Given the description of an element on the screen output the (x, y) to click on. 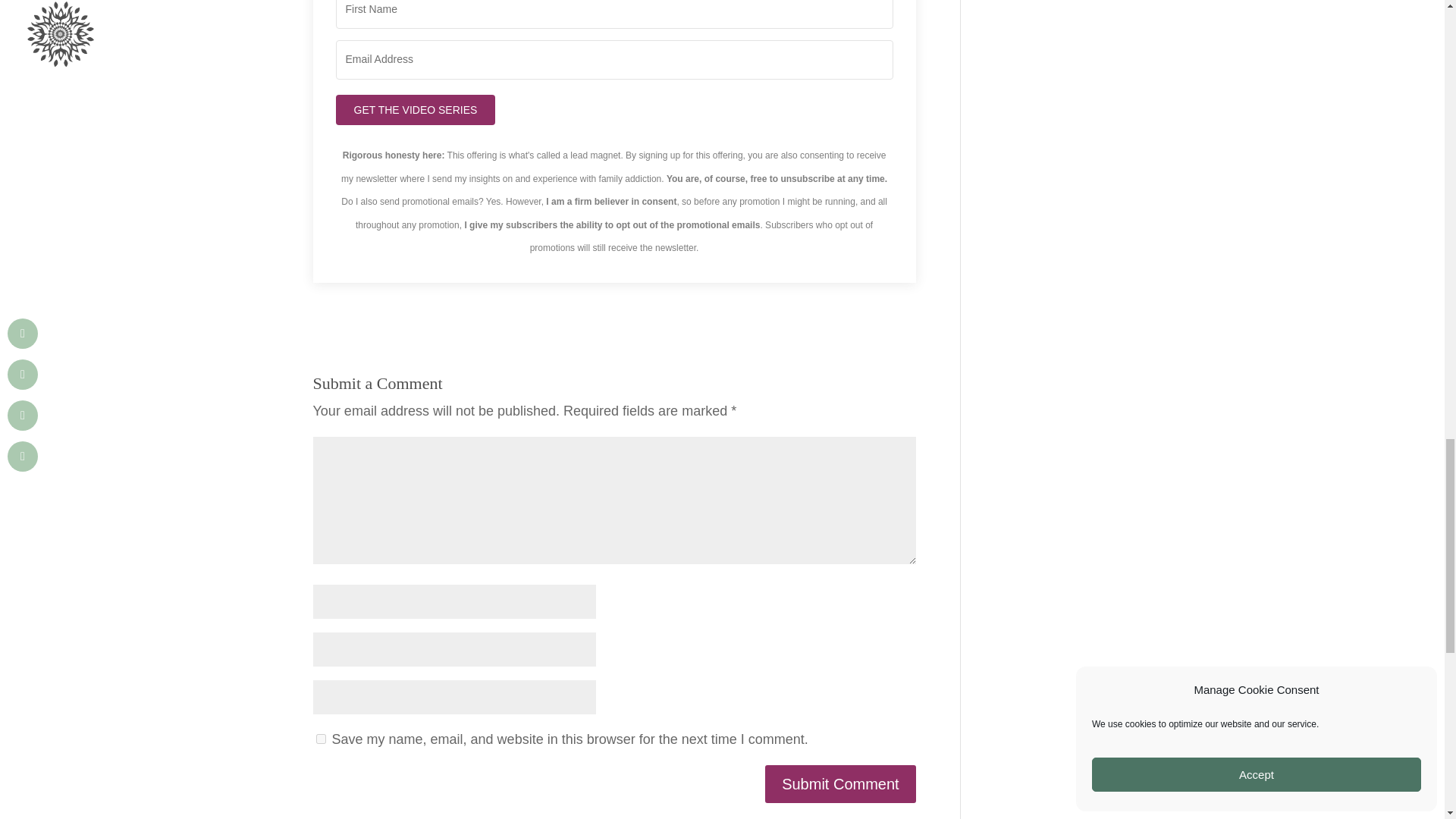
GET THE VIDEO SERIES (414, 110)
yes (319, 738)
Submit Comment (840, 783)
